Given the description of an element on the screen output the (x, y) to click on. 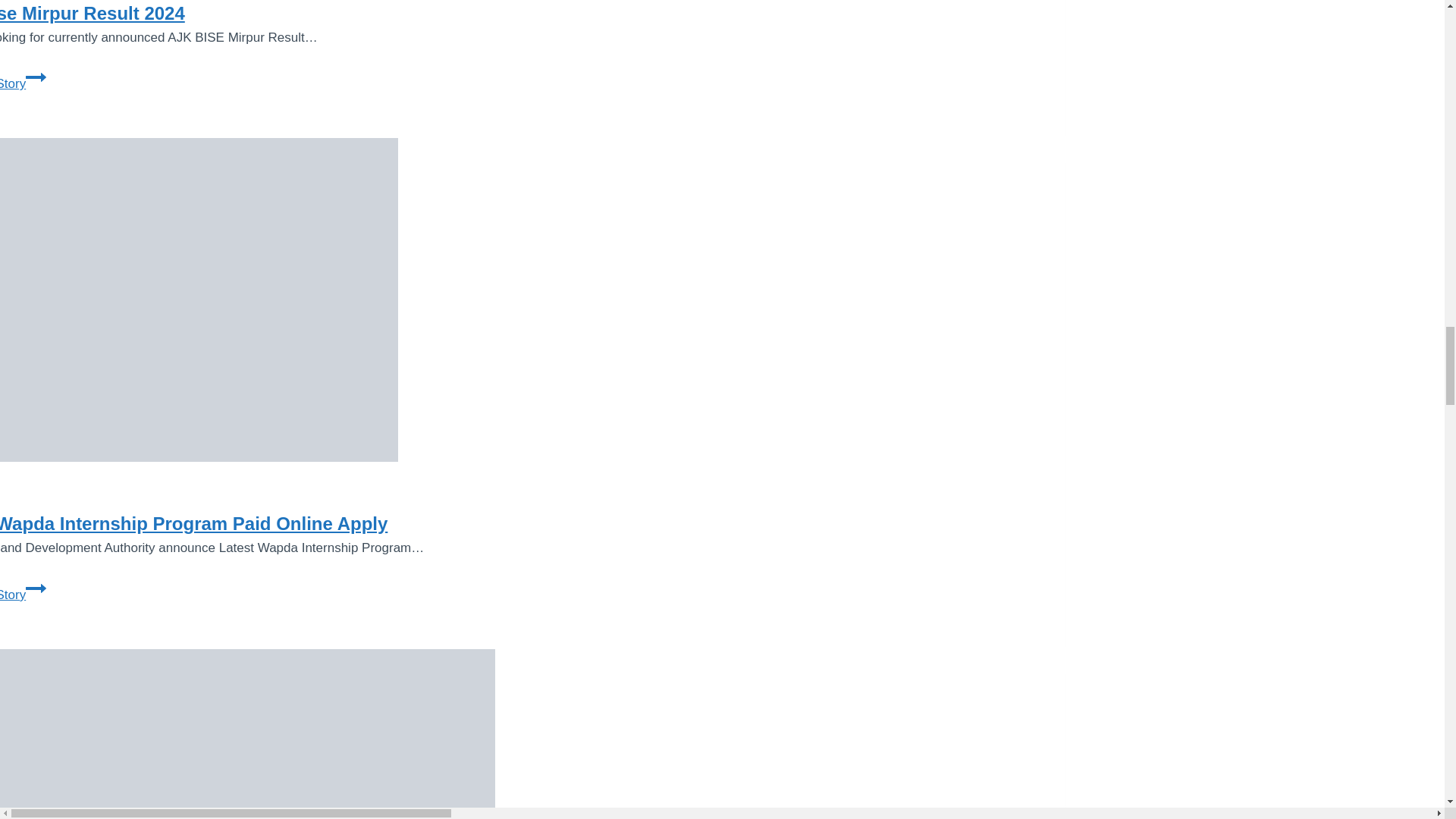
Continue (36, 588)
AJK Bise Mirpur Result 2024 (92, 13)
Continue (36, 76)
Latest Wapda Internship Program Paid Online Apply 6 (198, 299)
BISE Malakand HSSC Result 2023 7 (23, 83)
